Given the description of an element on the screen output the (x, y) to click on. 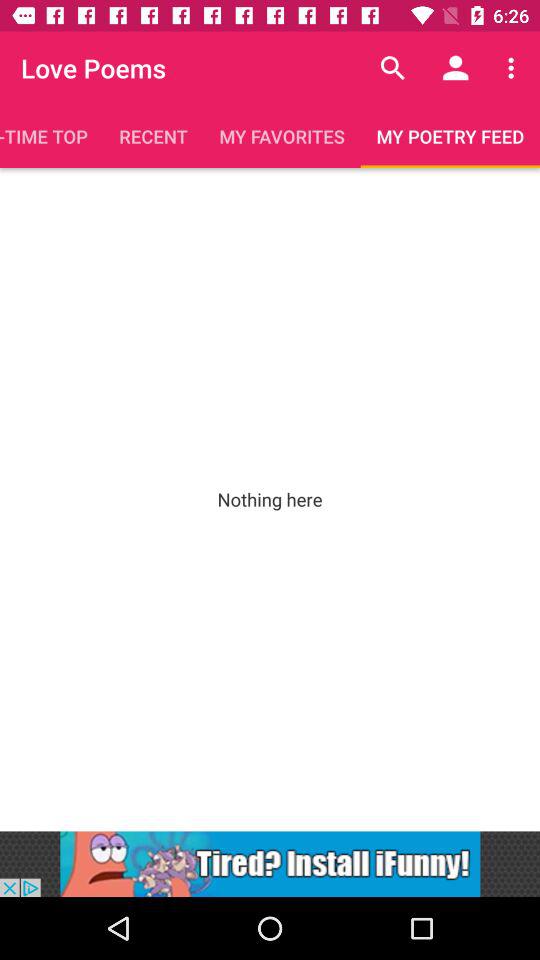
click advertisement (270, 864)
